Given the description of an element on the screen output the (x, y) to click on. 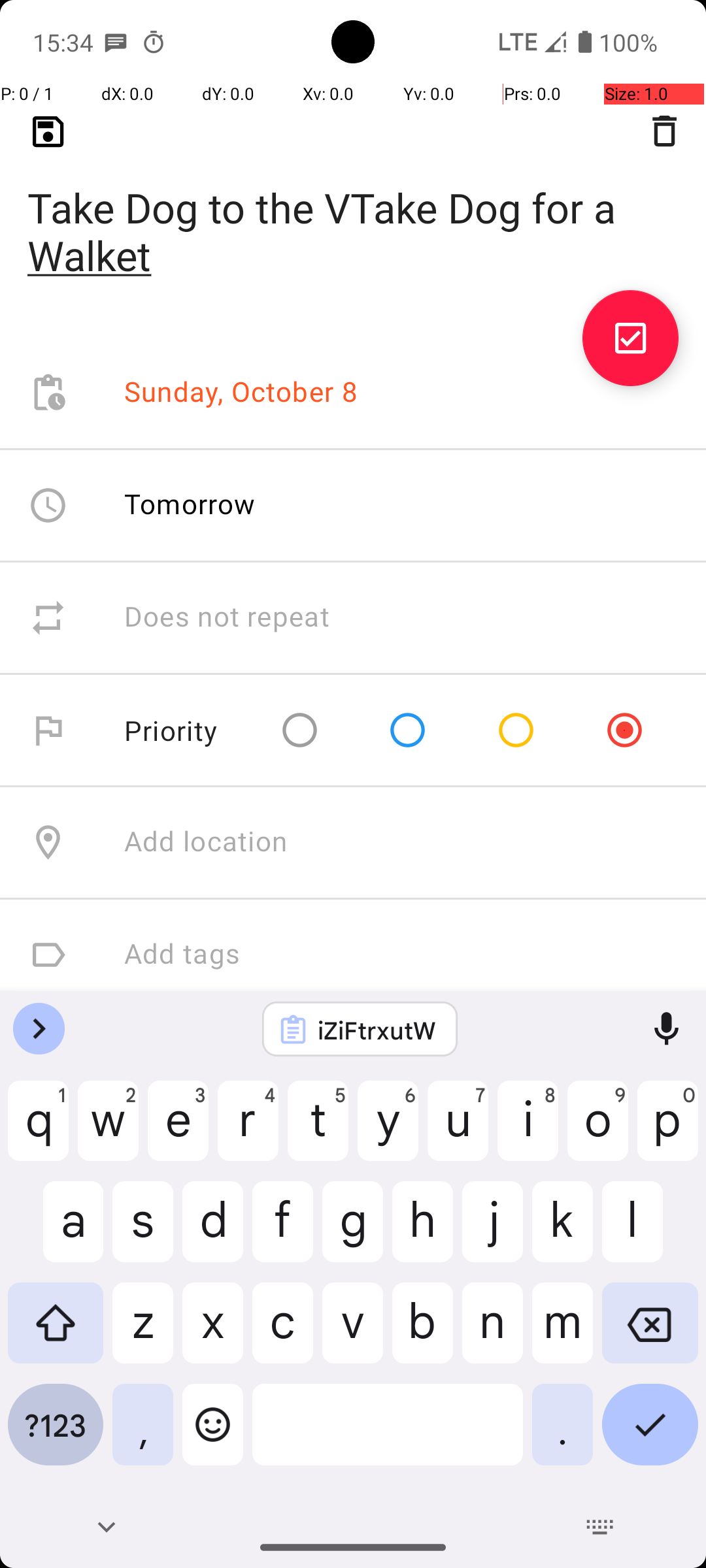
Take Dog to the VTake Dog for a Walket Element type: android.widget.EditText (353, 210)
Sunday, October 8 Element type: android.widget.TextView (240, 392)
iZiFtrxutW Element type: android.widget.TextView (376, 1029)
